Given the description of an element on the screen output the (x, y) to click on. 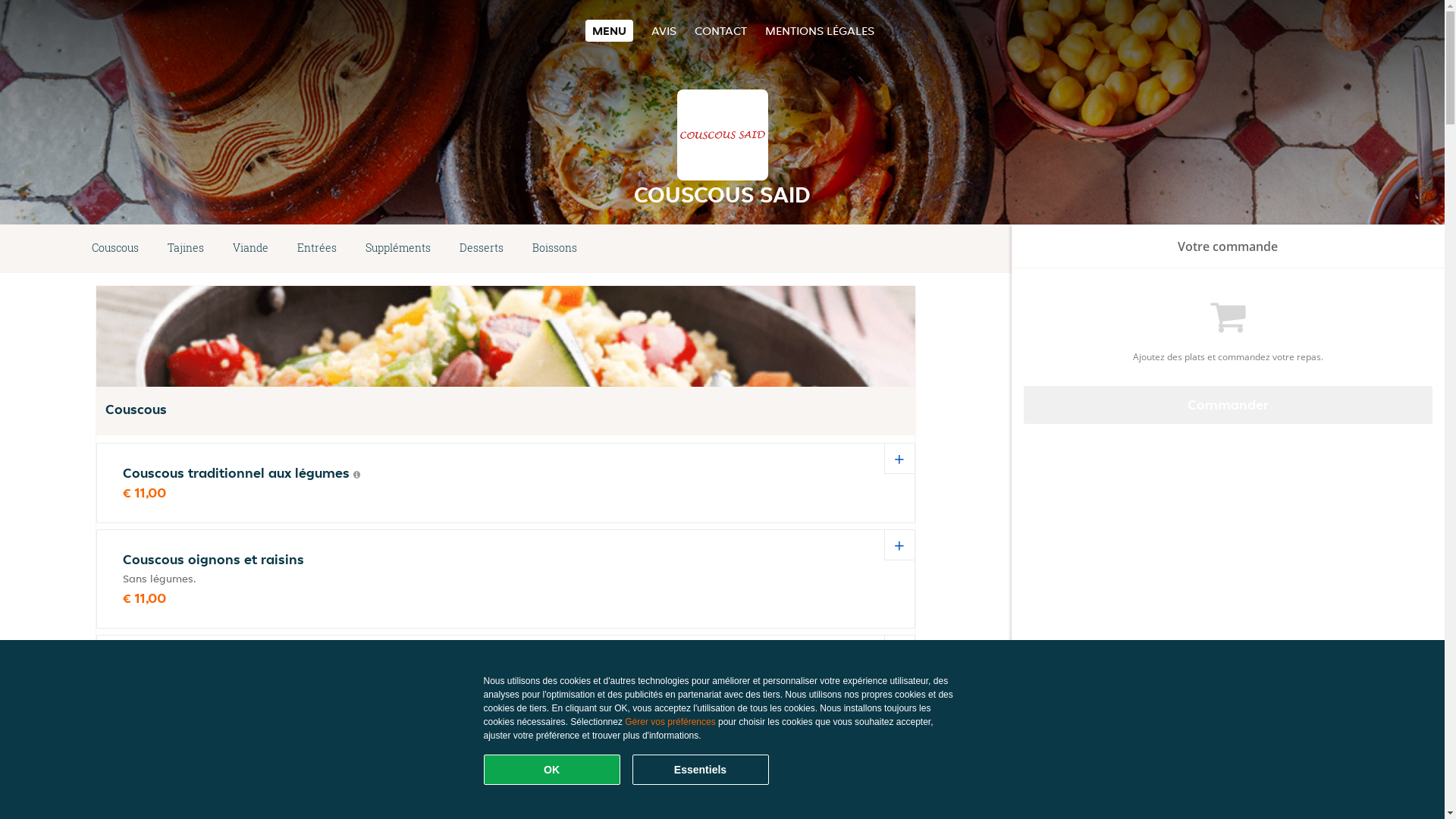
Couscous Element type: text (115, 248)
Tajines Element type: text (185, 248)
Essentiels Element type: text (700, 769)
Viande Element type: text (250, 248)
Plus d'informations sur le produit Element type: hover (356, 474)
Commander Element type: text (1228, 404)
CONTACT Element type: text (720, 30)
Boissons Element type: text (554, 248)
MENU Element type: text (609, 30)
OK Element type: text (551, 769)
Desserts Element type: text (481, 248)
AVIS Element type: text (663, 30)
